Given the description of an element on the screen output the (x, y) to click on. 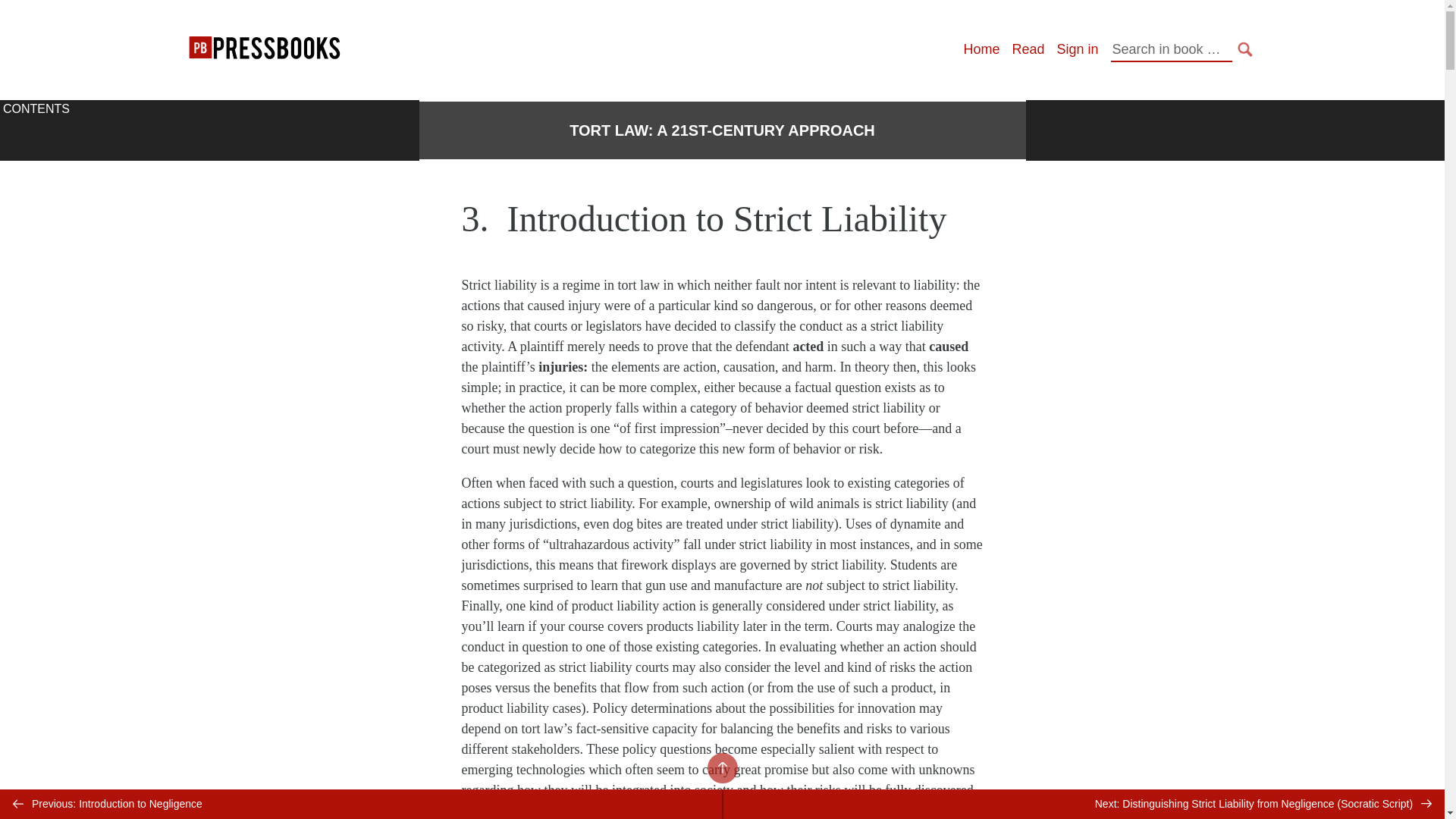
Read (1027, 48)
Home (980, 48)
TORT LAW: A 21ST-CENTURY APPROACH (722, 129)
Go to the cover page of Tort Law: A 21st-Century Approach (722, 129)
Previous: Introduction to Negligence (361, 804)
Sign in (1077, 48)
Previous: Introduction to Negligence (361, 804)
BACK TO TOP (721, 767)
